Given the description of an element on the screen output the (x, y) to click on. 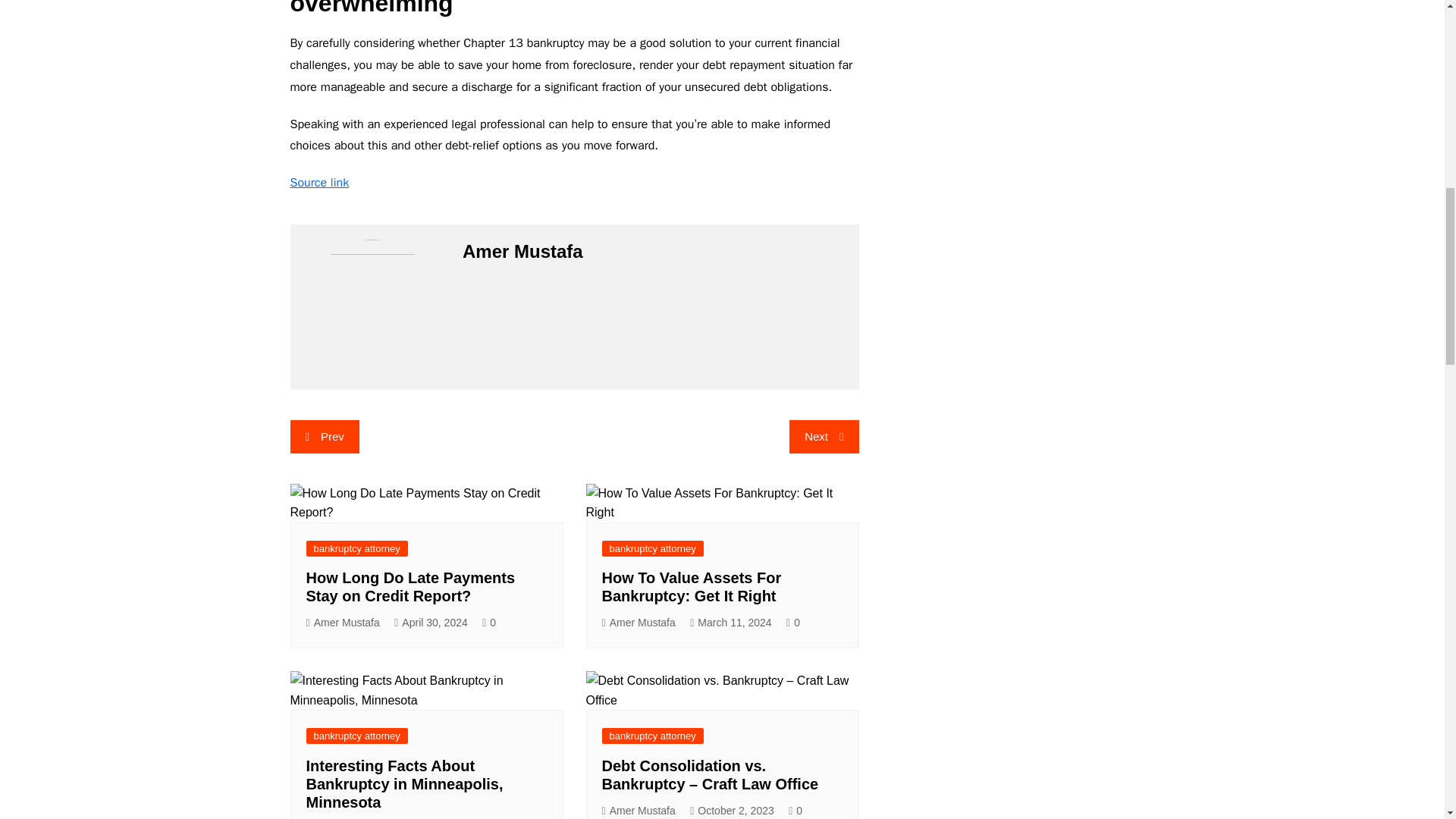
Amer Mustafa (638, 622)
bankruptcy attorney (356, 735)
Source link (319, 182)
Amer Mustafa (342, 622)
How To Value Assets For Bankruptcy: Get It Right (691, 586)
bankruptcy attorney (356, 548)
March 11, 2024 (730, 622)
How Long Do Late Payments Stay on Credit Report? (410, 586)
Interesting Facts About Bankruptcy in Minneapolis, Minnesota (404, 783)
Next (824, 436)
